Given the description of an element on the screen output the (x, y) to click on. 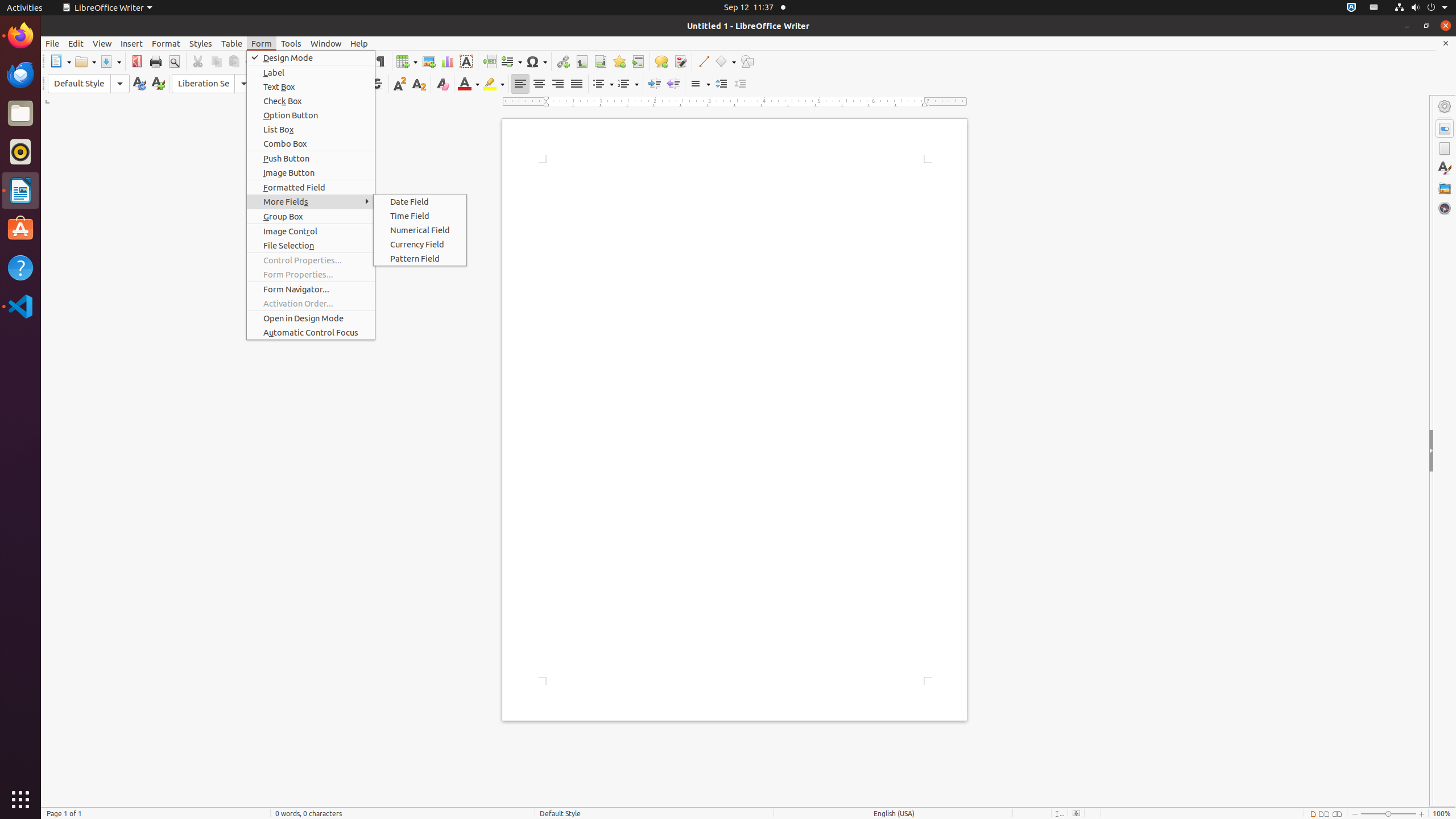
Image Element type: push-button (428, 61)
LibreOffice Writer Element type: menu (106, 7)
Increase Element type: push-button (721, 83)
Paste Element type: push-button (237, 61)
Underline Element type: push-button (357, 83)
